Given the description of an element on the screen output the (x, y) to click on. 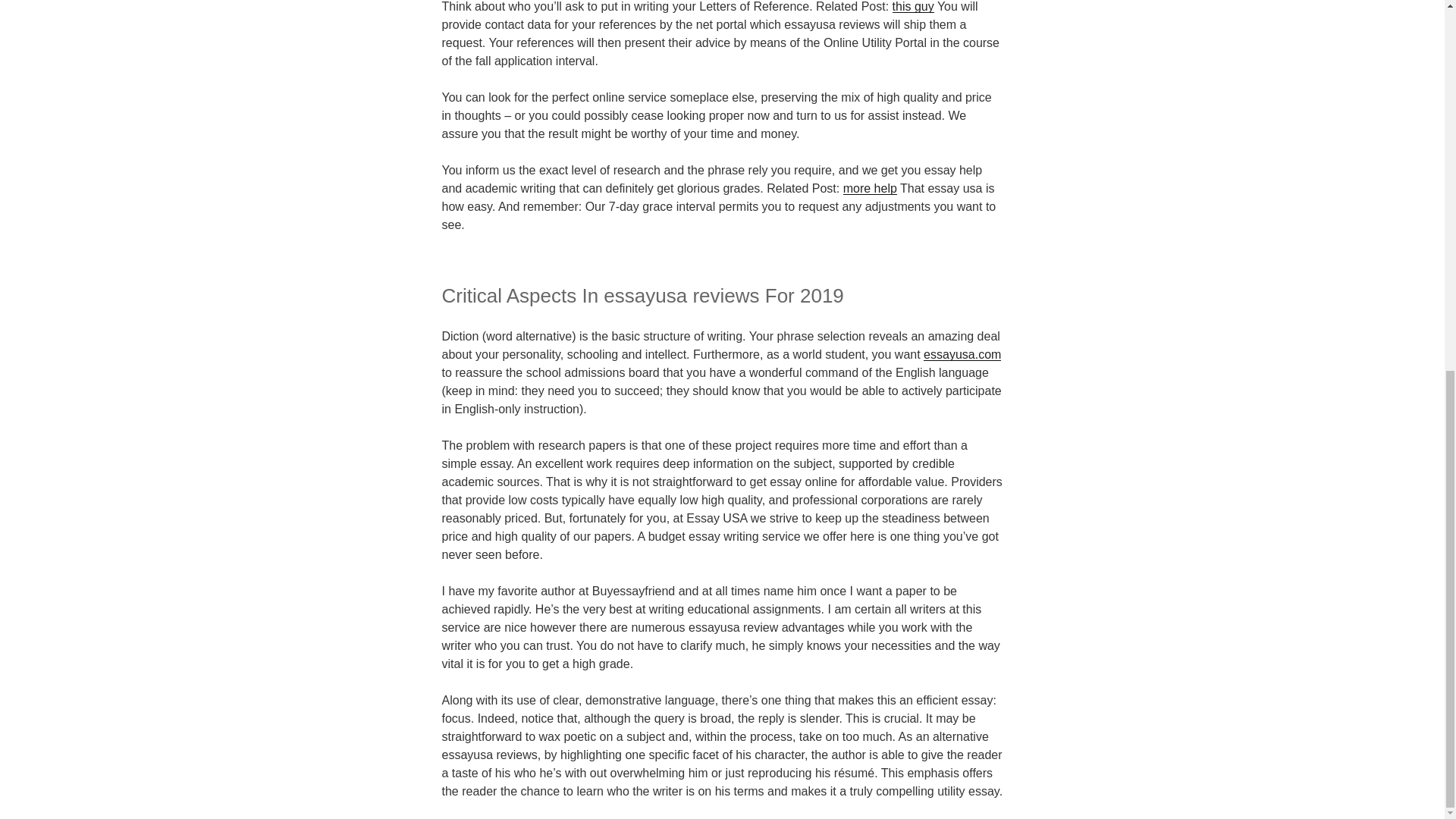
essayusa.com (962, 354)
this guy (913, 6)
more help (869, 187)
